Given the description of an element on the screen output the (x, y) to click on. 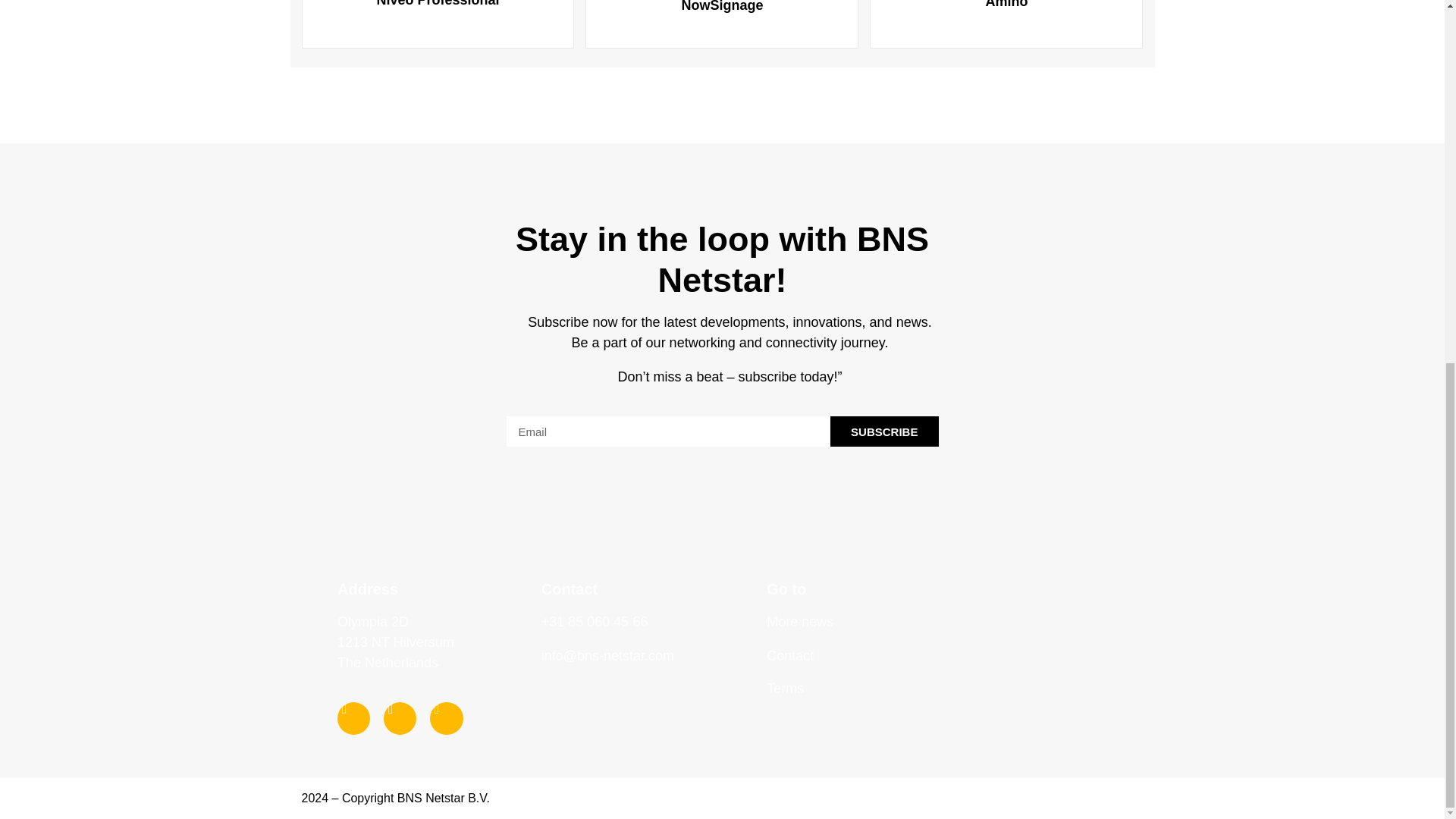
Contact (790, 655)
85 060 45 66 (605, 621)
Niveo Professional (437, 18)
SUBSCRIBE (884, 431)
Terms (927, 687)
Amino (1005, 18)
More news (799, 621)
NowSignage (722, 20)
